Given the description of an element on the screen output the (x, y) to click on. 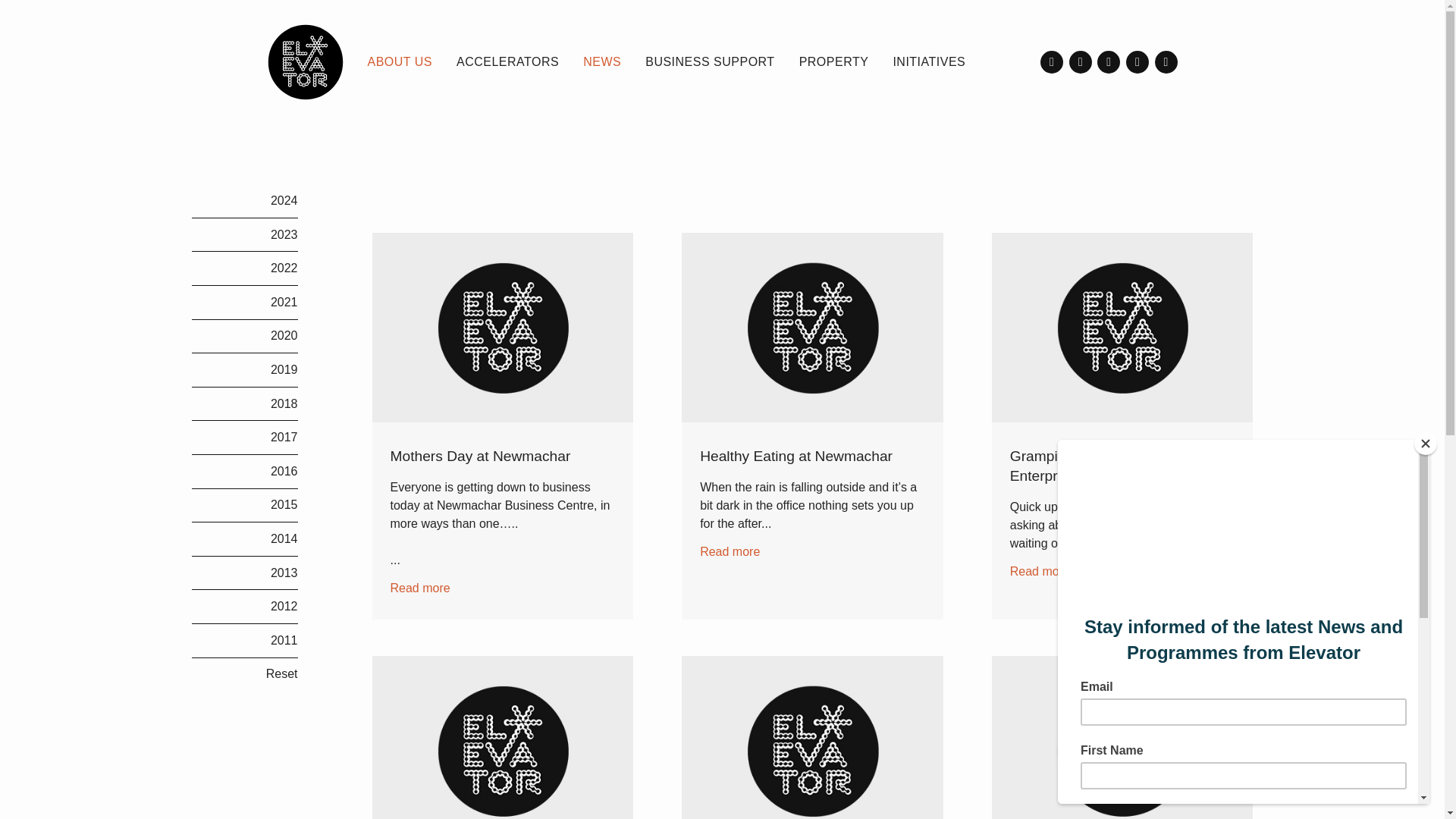
BUSINESS SUPPORT (709, 61)
